Given the description of an element on the screen output the (x, y) to click on. 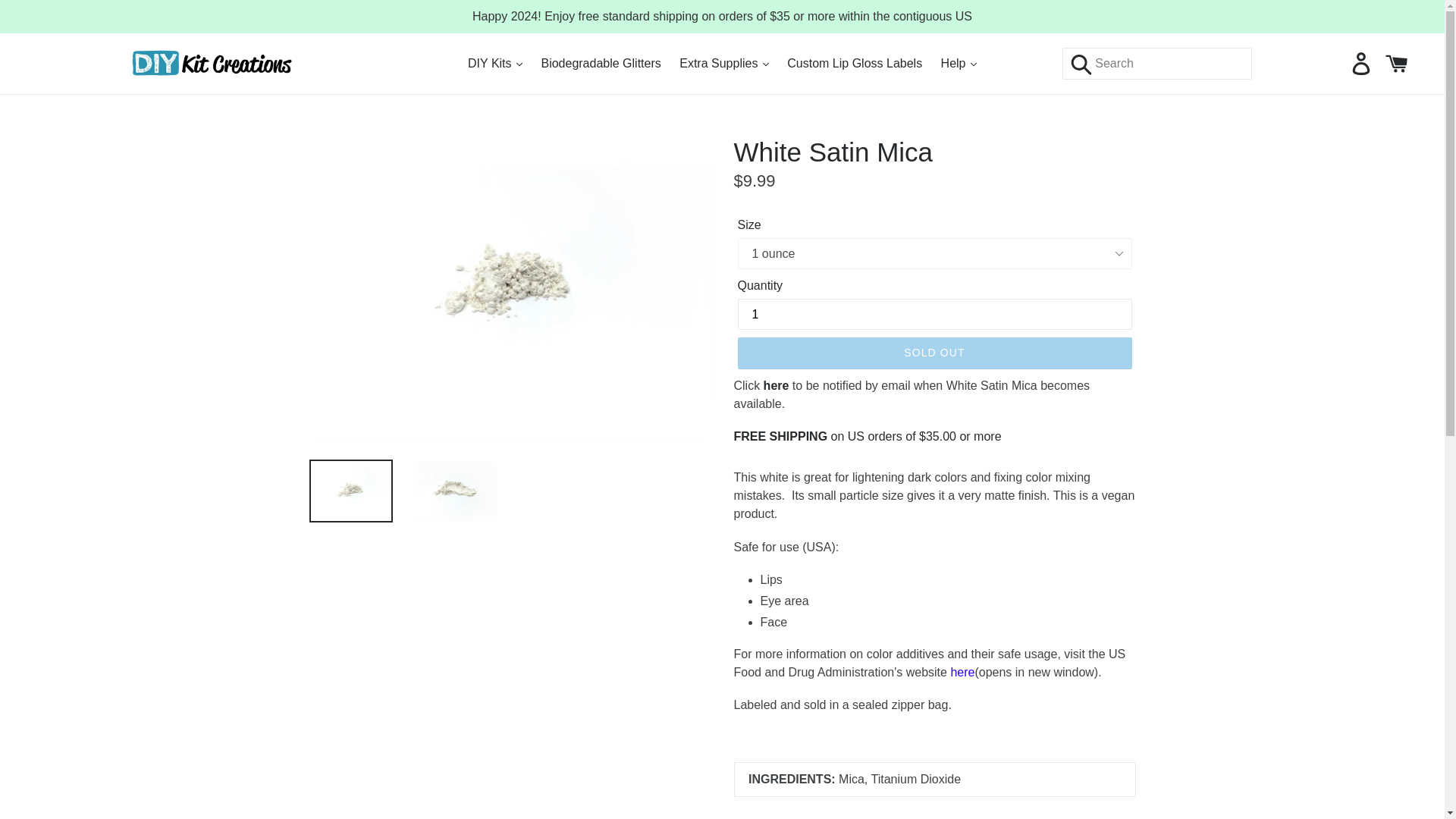
 INGREDIENTS: Mica, Titanium Dioxide (934, 790)
1 (933, 314)
FDA color additives  (962, 672)
